Given the description of an element on the screen output the (x, y) to click on. 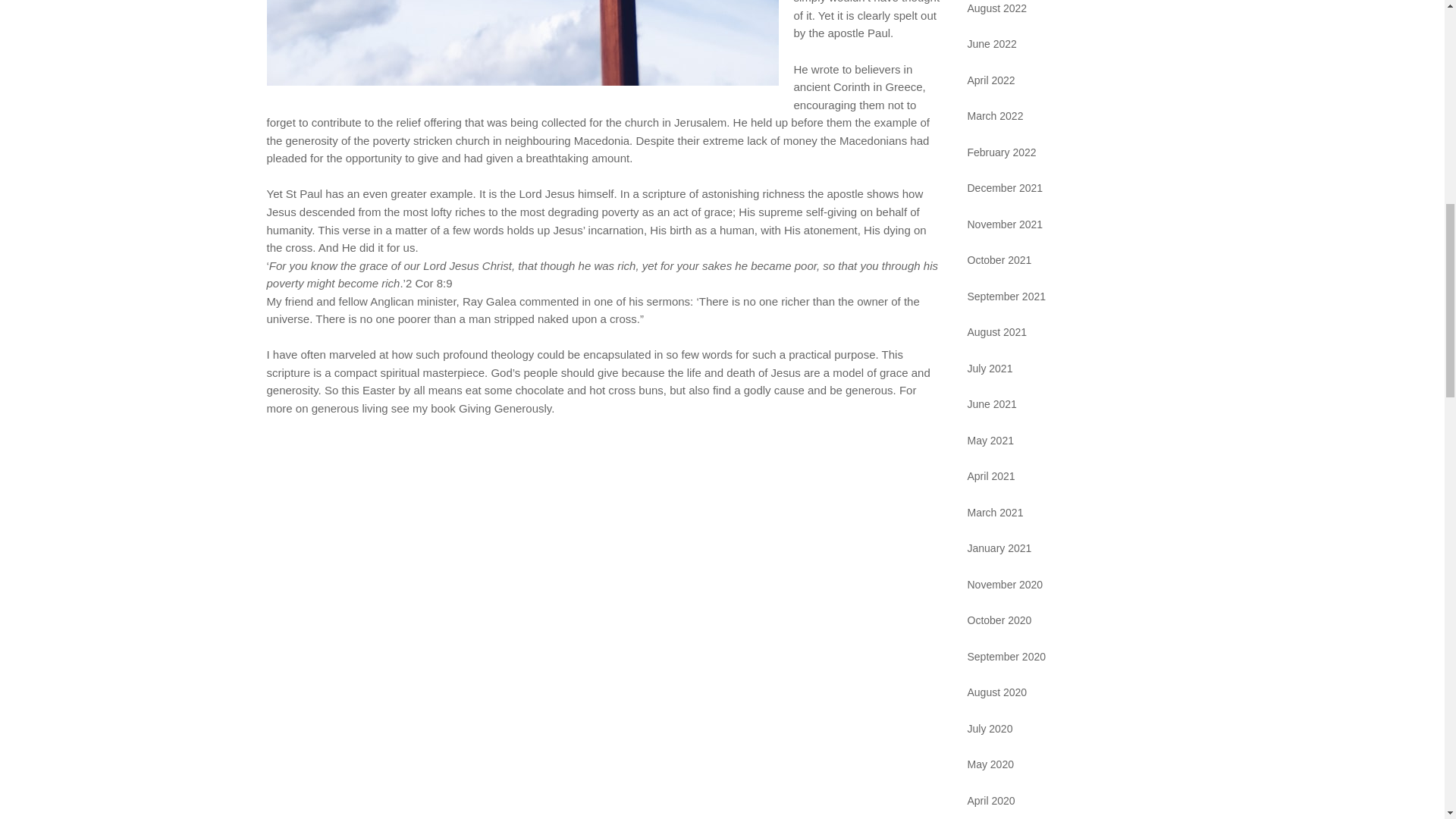
August 2022 (997, 8)
December 2021 (1005, 187)
October 2021 (1000, 259)
February 2022 (1002, 152)
April 2022 (991, 80)
June 2022 (992, 43)
September 2021 (1007, 296)
July 2021 (990, 368)
August 2021 (997, 331)
March 2022 (995, 115)
November 2021 (1005, 224)
June 2021 (992, 404)
